Given the description of an element on the screen output the (x, y) to click on. 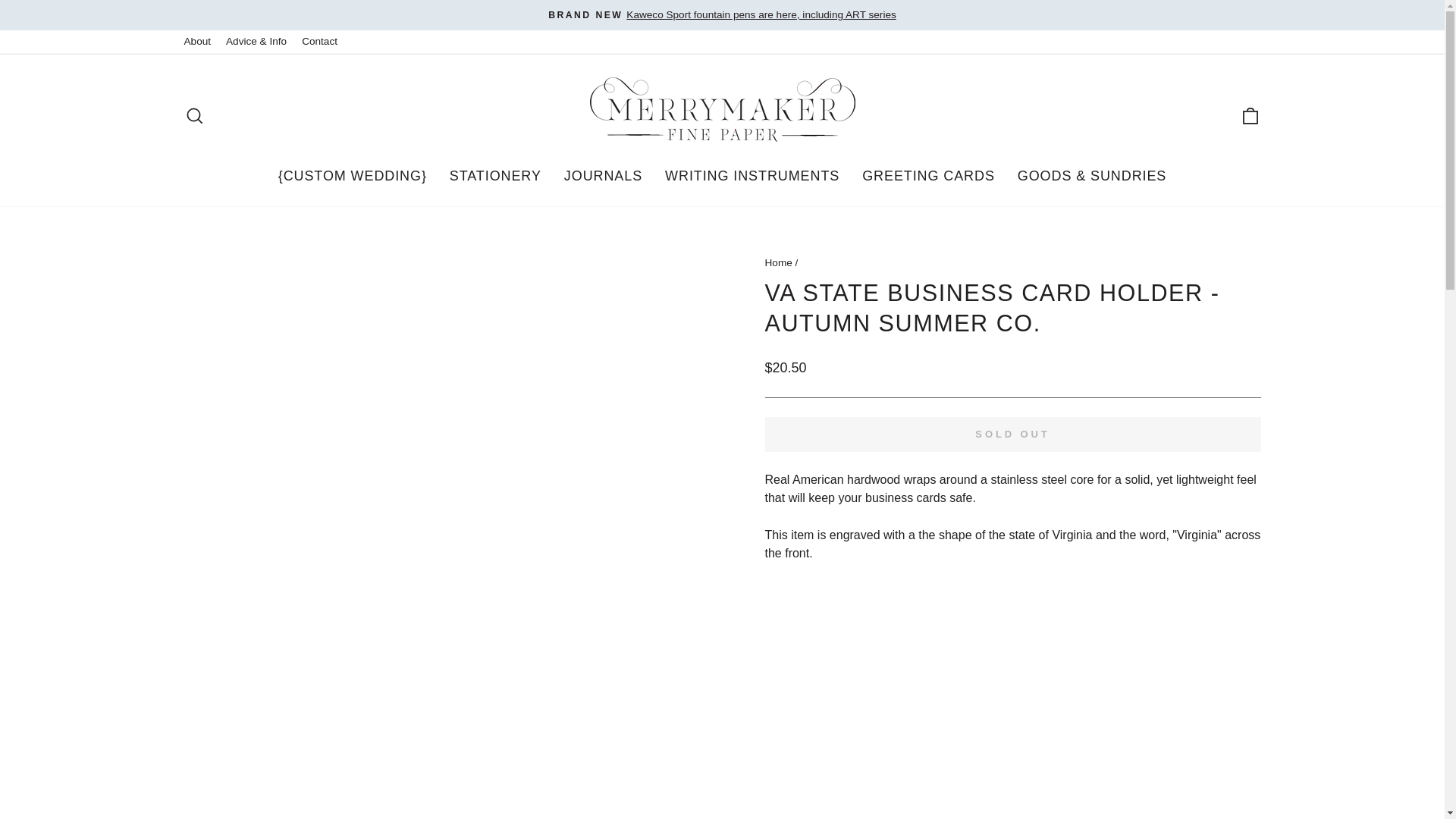
Back to the frontpage (778, 262)
